Given the description of an element on the screen output the (x, y) to click on. 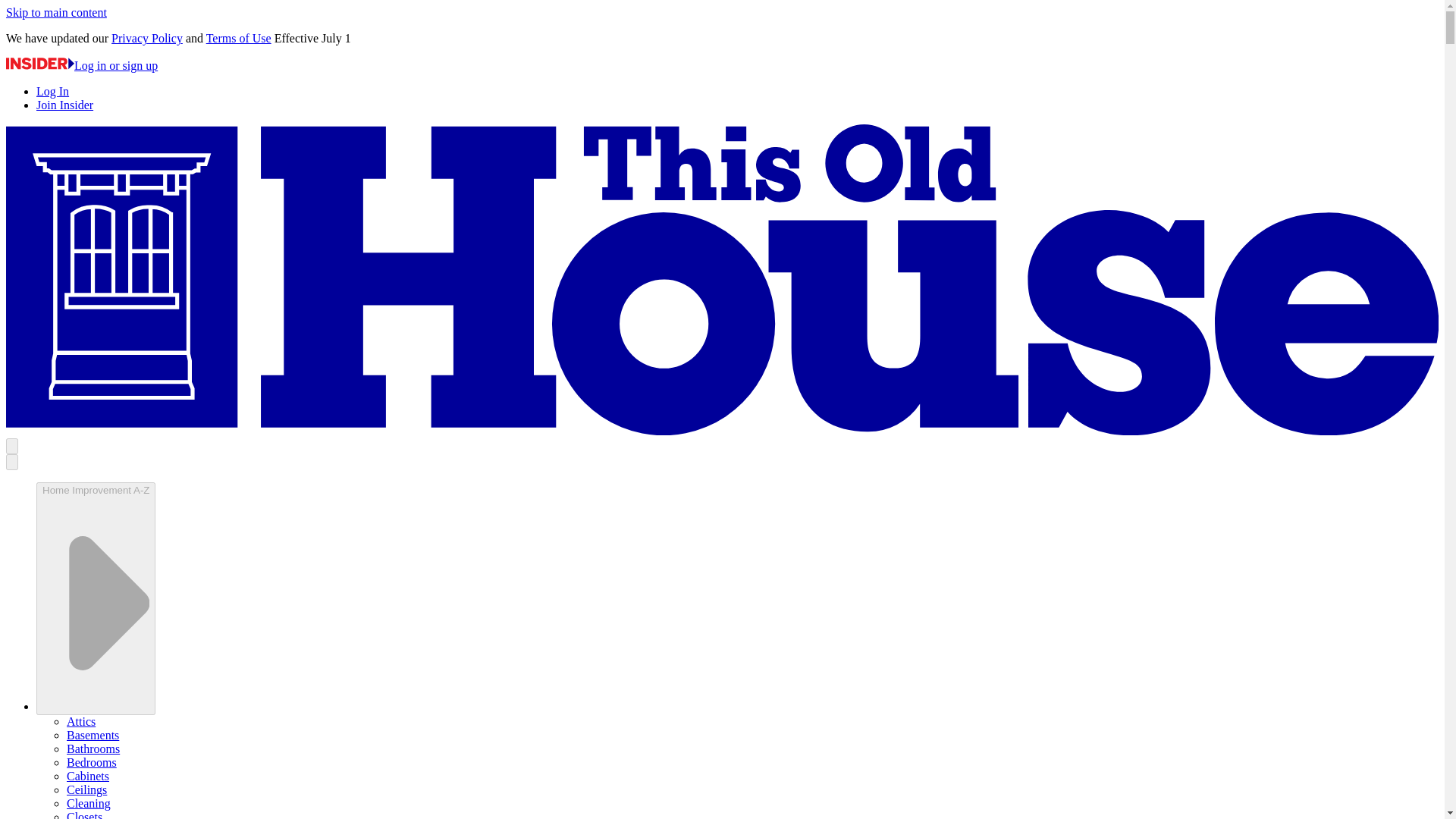
Cleaning (88, 802)
Basements (92, 735)
Log In (52, 91)
Join Insider (64, 104)
Closets (83, 814)
Bathrooms (92, 748)
Privacy Policy (147, 38)
Terms of Use (238, 38)
Ceilings (86, 789)
Attics (81, 721)
Bedrooms (91, 762)
Skip to main content (55, 11)
Log in or sign up (81, 65)
Cabinets (87, 775)
